Given the description of an element on the screen output the (x, y) to click on. 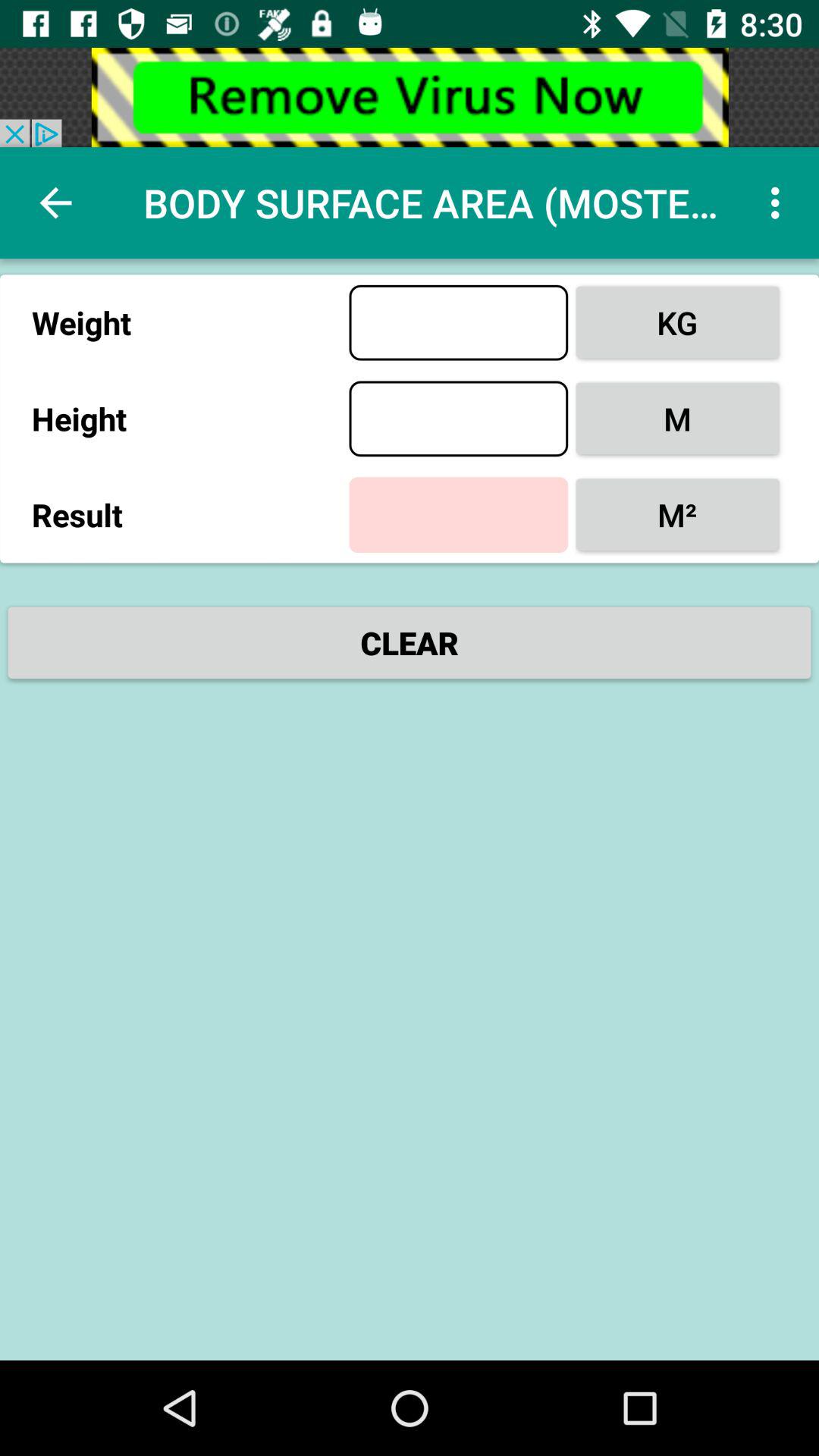
go weight option (458, 322)
